Given the description of an element on the screen output the (x, y) to click on. 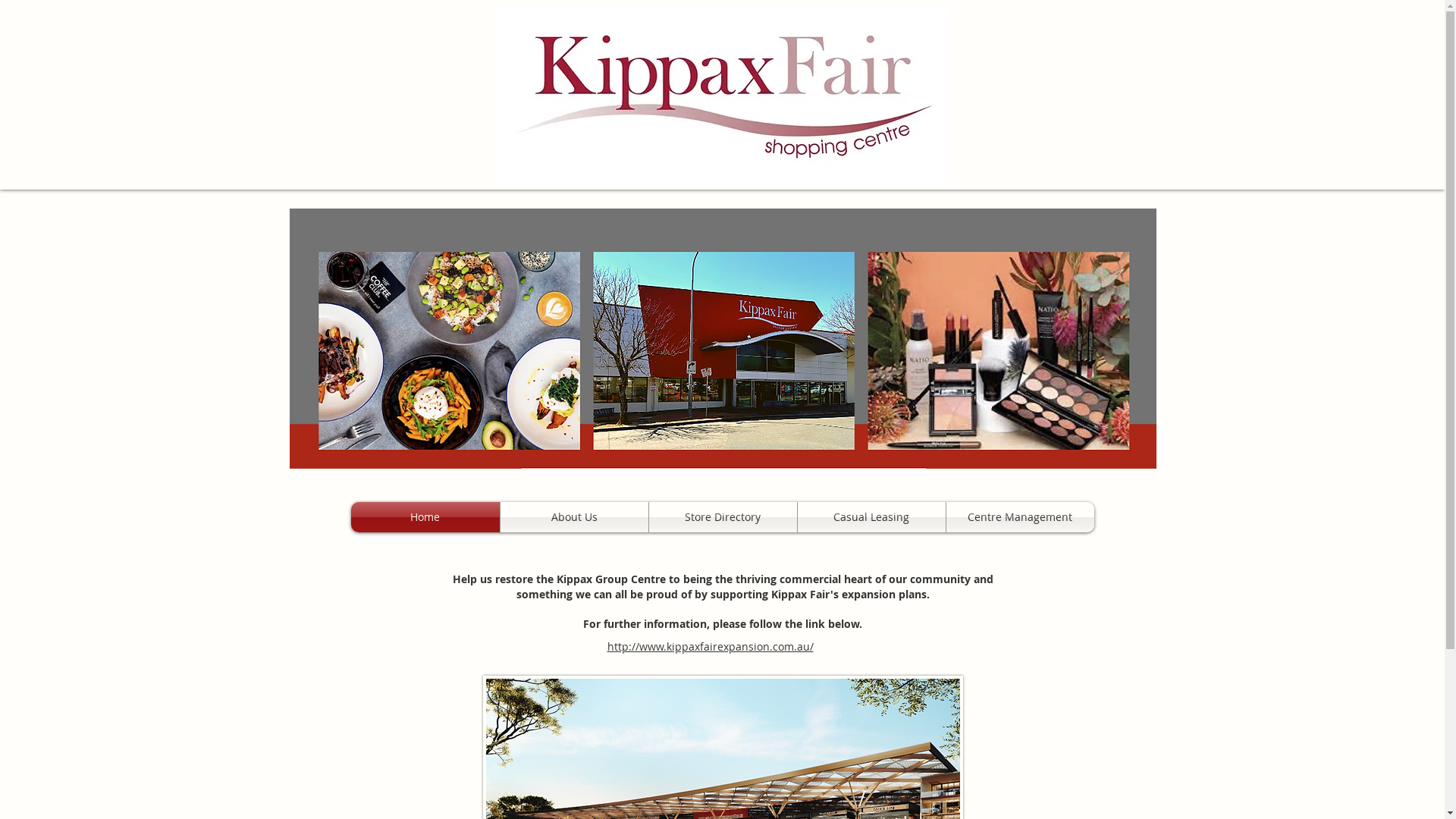
Casual Leasing Element type: text (871, 517)
http://www.kippaxfairexpansion.com.au/ Element type: text (709, 646)
Store Directory Element type: text (723, 517)
Kippax Fair front page 1.png Element type: hover (722, 338)
Centre Management Element type: text (1020, 517)
Home Element type: text (424, 517)
About Us Element type: text (574, 517)
